Given the description of an element on the screen output the (x, y) to click on. 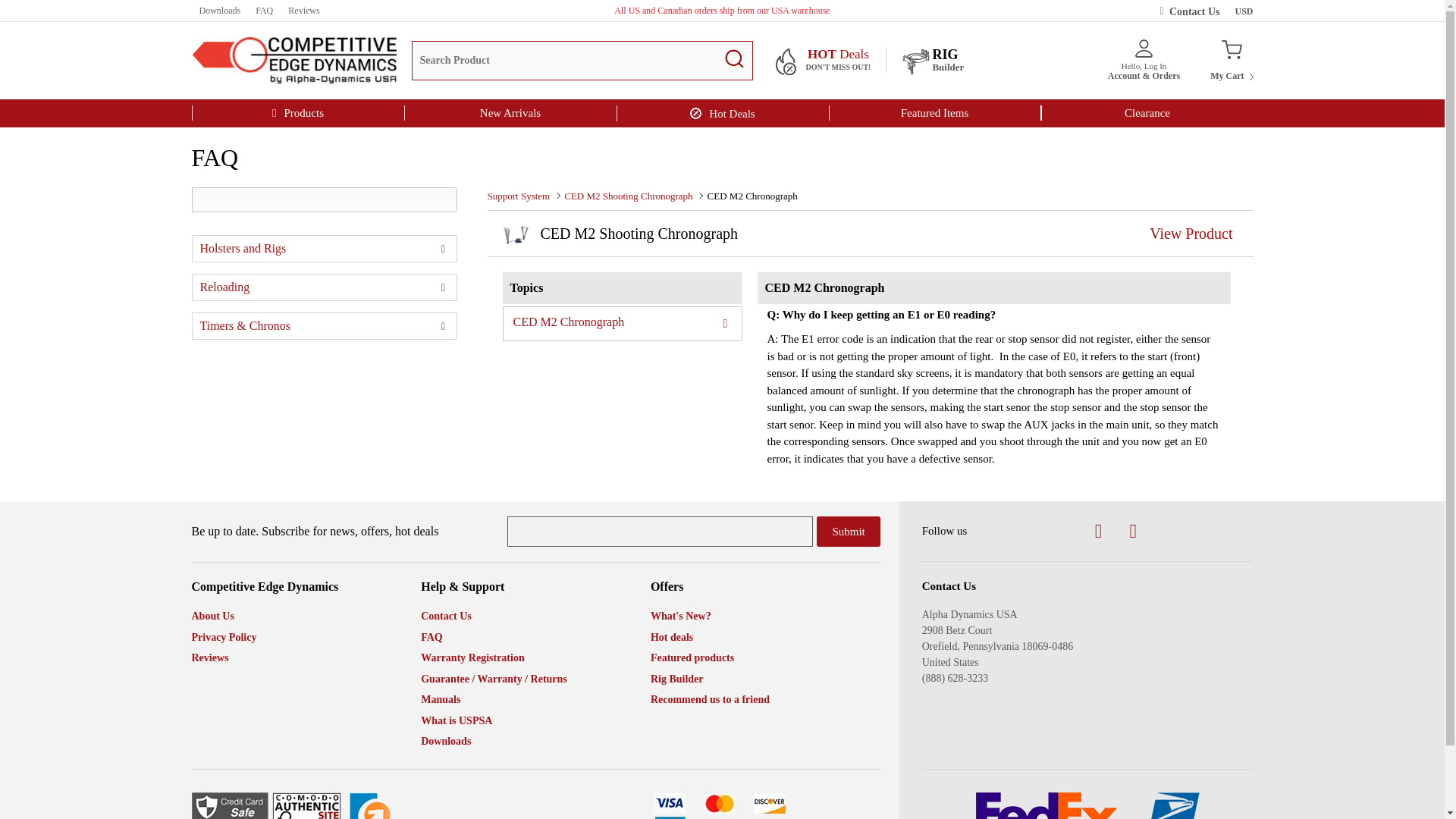
Products (296, 112)
Downloads (218, 10)
FAQ (264, 10)
Reviews (303, 10)
Contact Us (1230, 60)
